Given the description of an element on the screen output the (x, y) to click on. 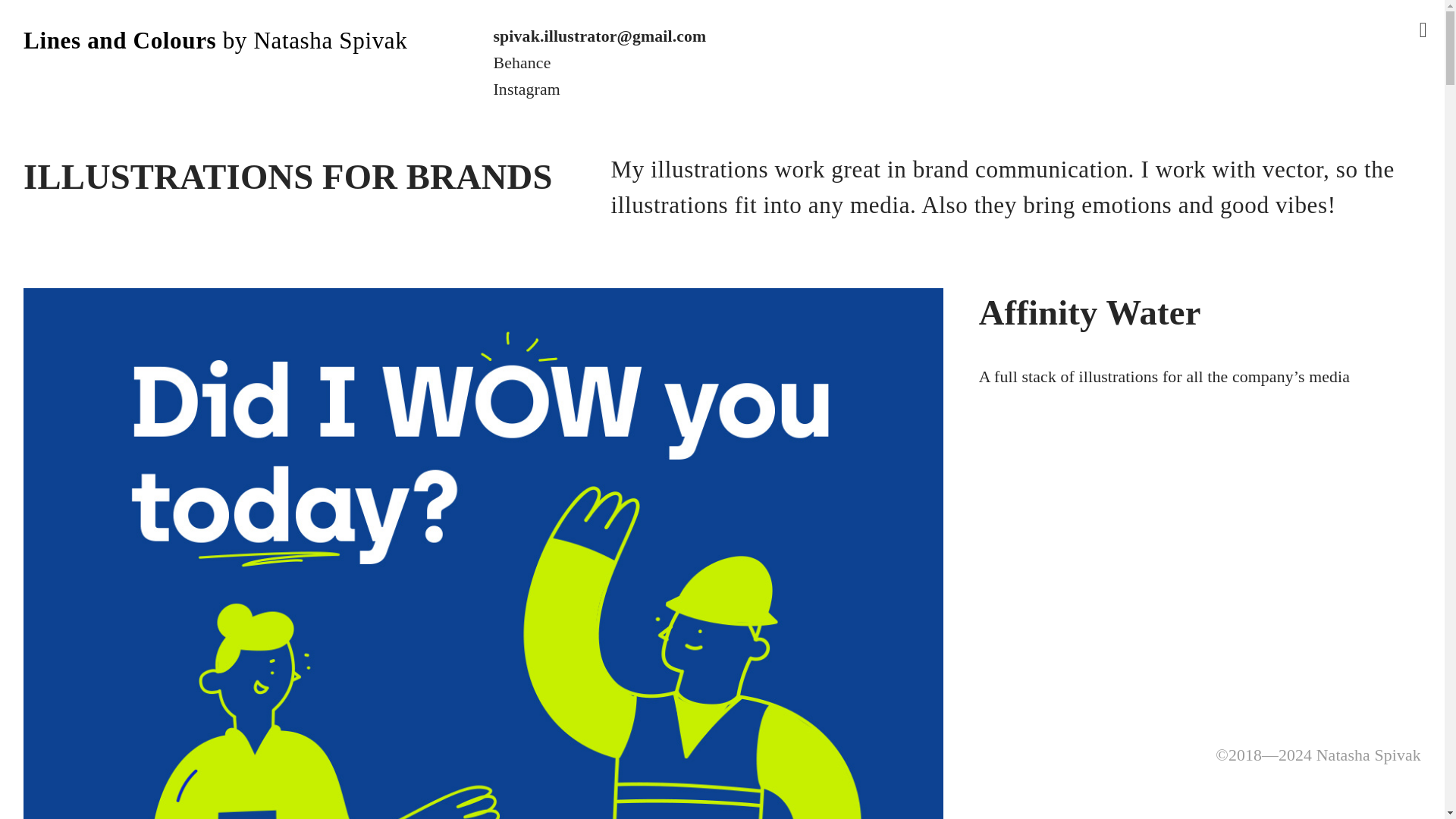
Lines and Colours by Natasha Spivak (215, 40)
Instagram (526, 89)
Behance (521, 63)
